Given the description of an element on the screen output the (x, y) to click on. 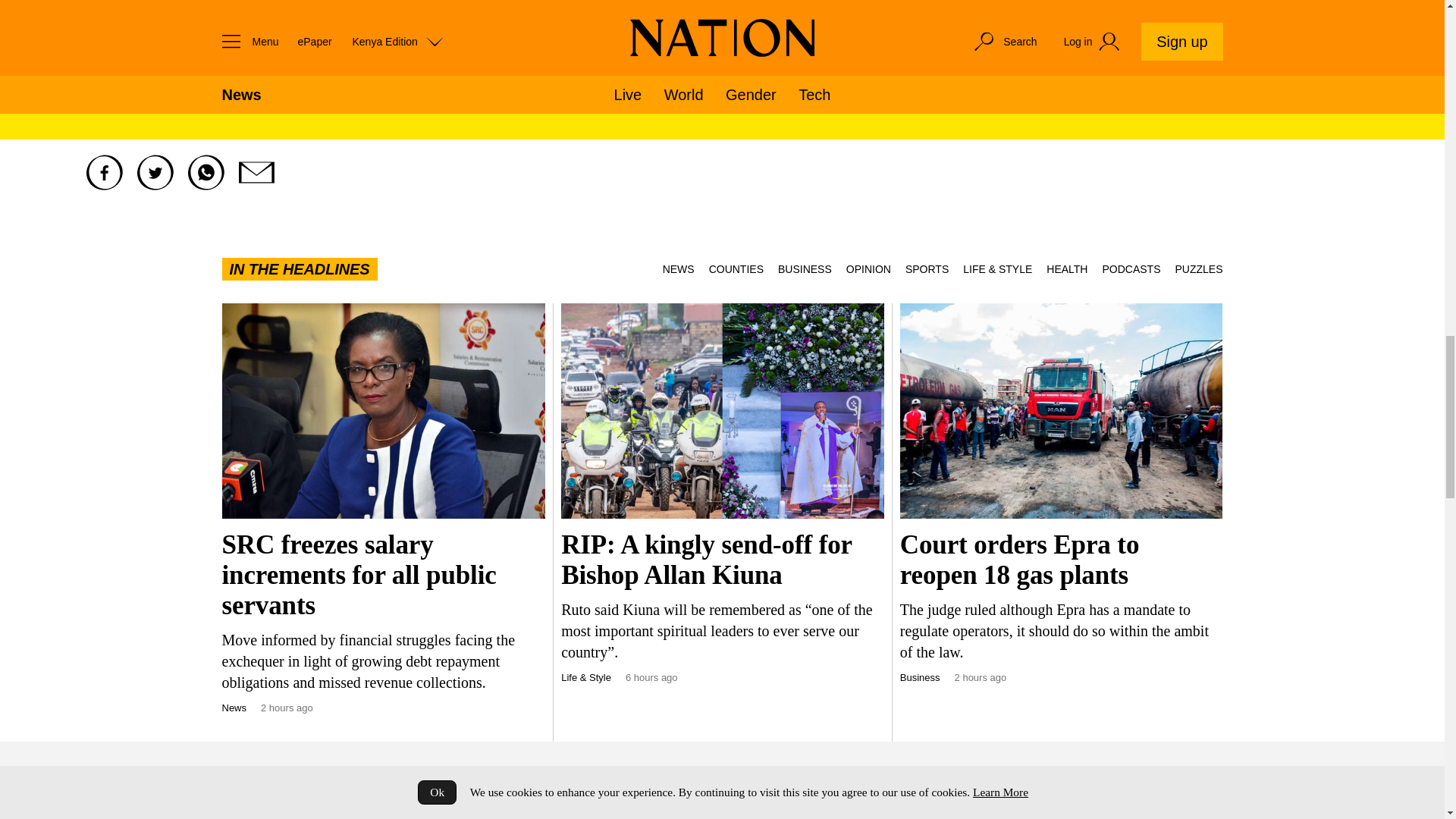
Husband arrested as wife's dismembered body found in Nandi (1065, 807)
